Given the description of an element on the screen output the (x, y) to click on. 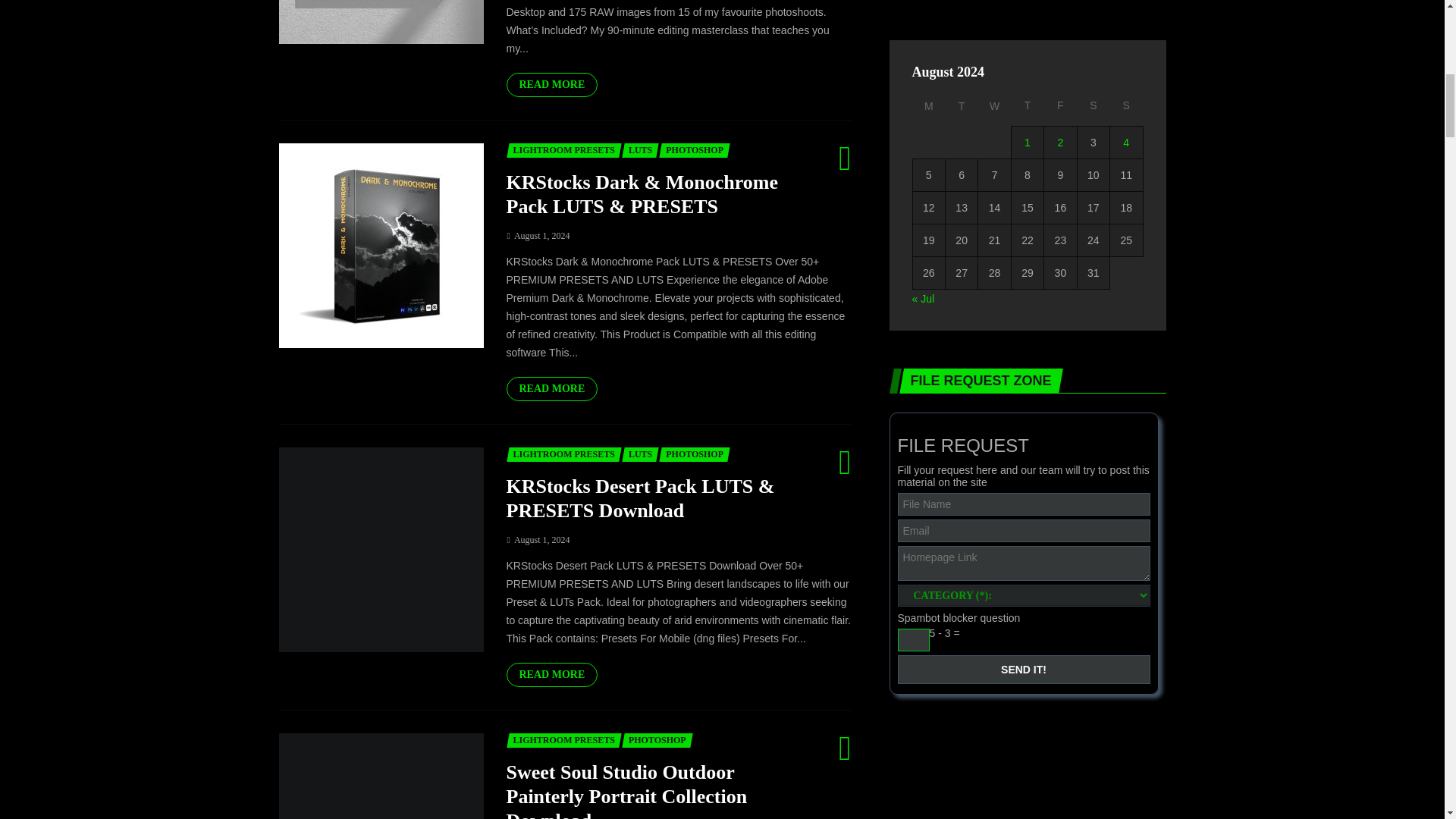
Search (727, 408)
Send it! (1024, 669)
